Given the description of an element on the screen output the (x, y) to click on. 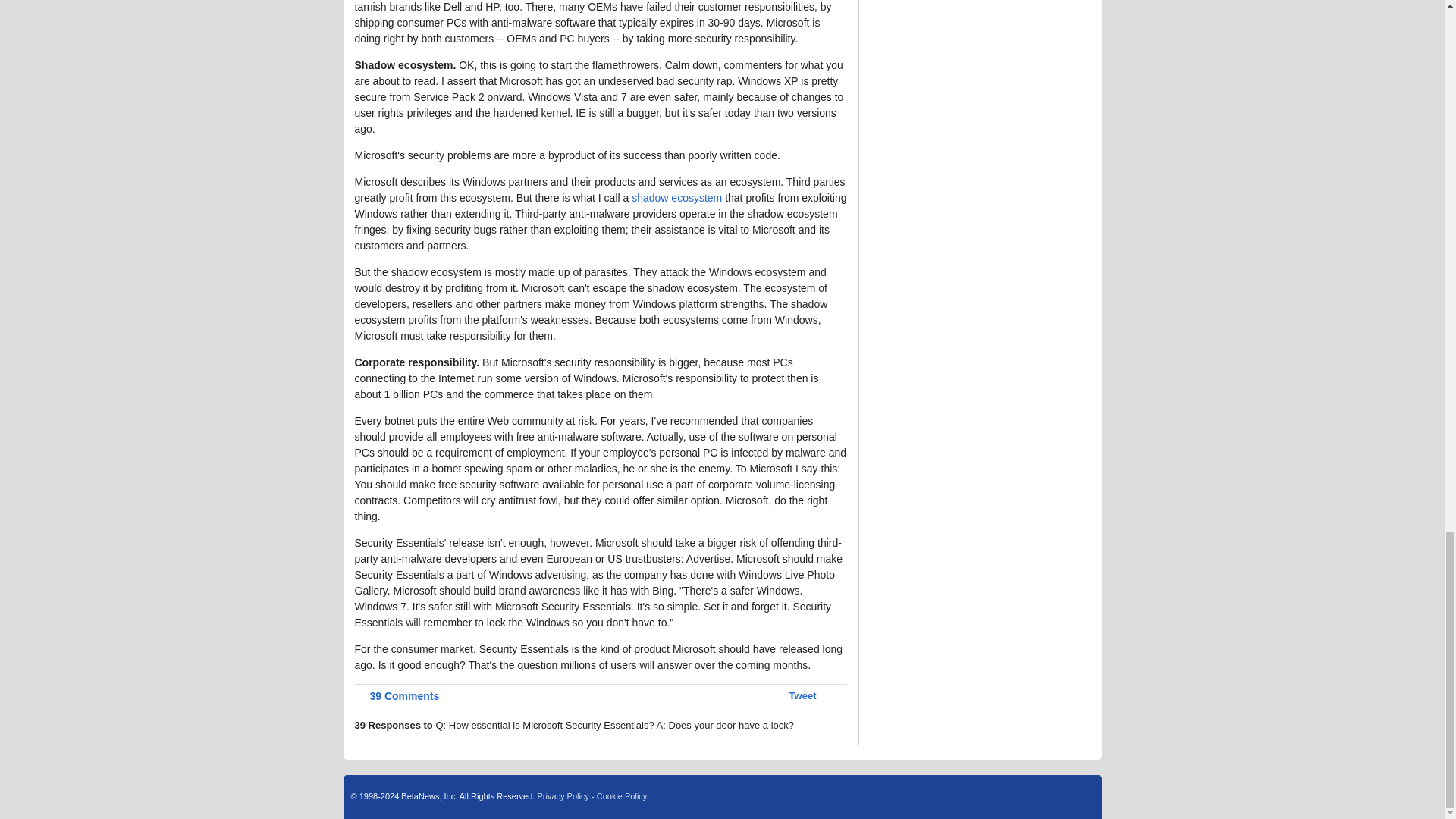
shadow ecosystem (676, 197)
39 Comments (397, 695)
Tweet (802, 695)
